Given the description of an element on the screen output the (x, y) to click on. 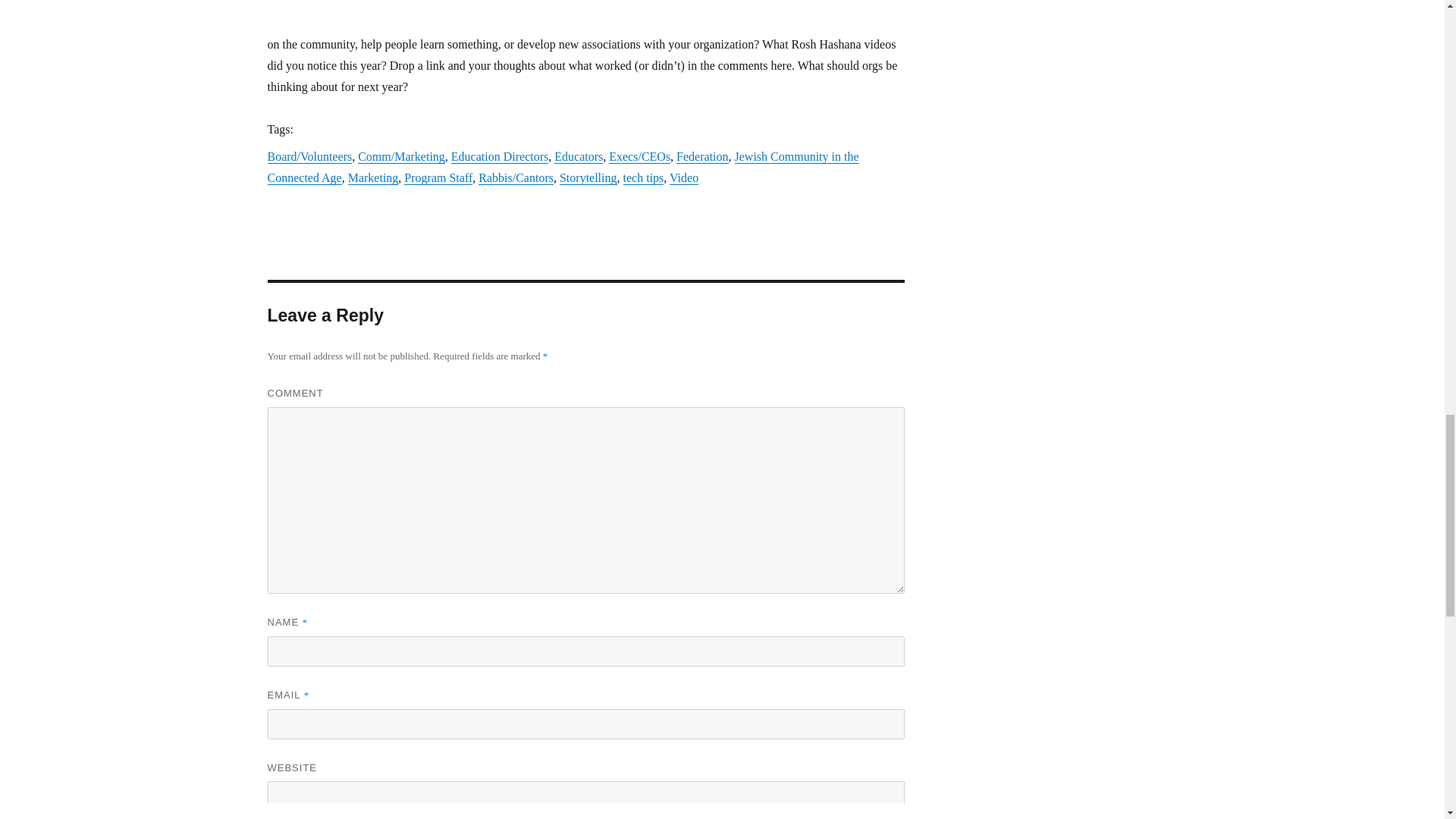
Jewish Community in the Connected Age (562, 166)
Education Directors (499, 155)
Federation (702, 155)
tech tips (643, 177)
Video (683, 177)
Marketing (372, 177)
Program Staff (437, 177)
Storytelling (588, 177)
Educators (578, 155)
